Given the description of an element on the screen output the (x, y) to click on. 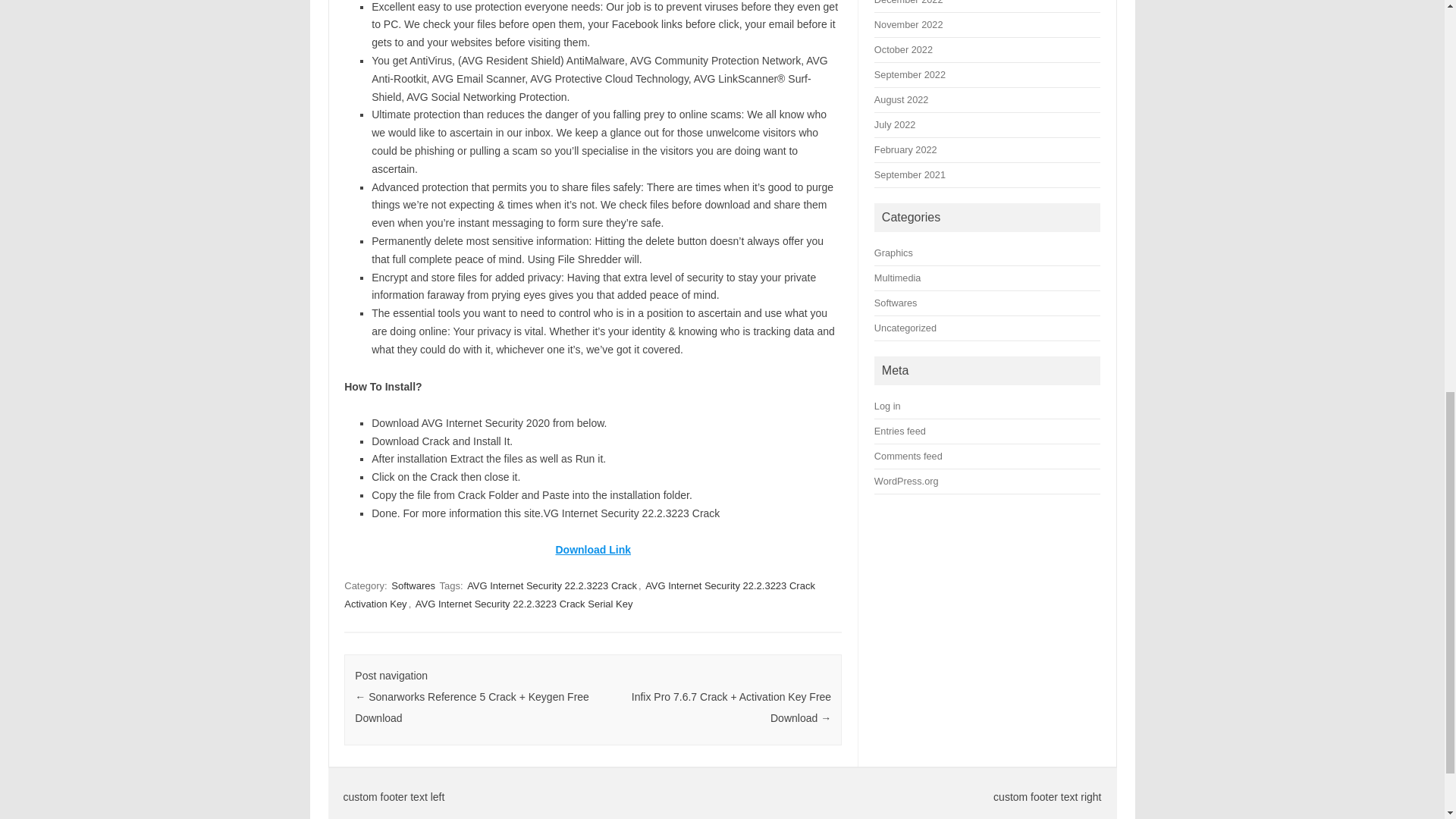
October 2022 (904, 49)
Softwares (413, 585)
September 2022 (909, 74)
November 2022 (909, 24)
Download Link (592, 549)
AVG Internet Security 22.2.3223 Crack (552, 585)
December 2022 (909, 2)
AVG Internet Security 22.2.3223 Crack Activation Key (579, 594)
AVG Internet Security 22.2.3223 Crack Serial Key (523, 603)
